Given the description of an element on the screen output the (x, y) to click on. 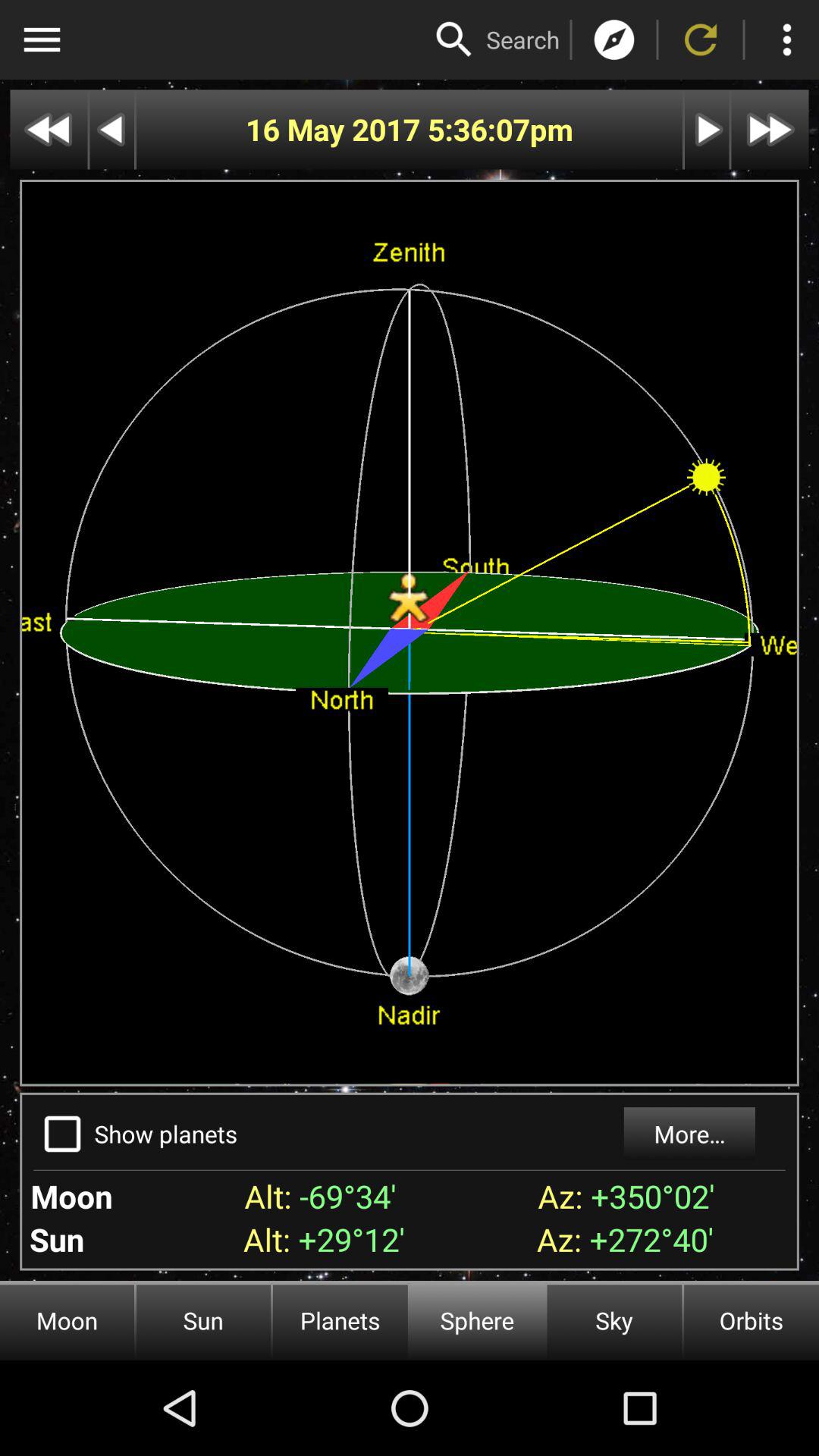
click on the three points (787, 39)
